Given the description of an element on the screen output the (x, y) to click on. 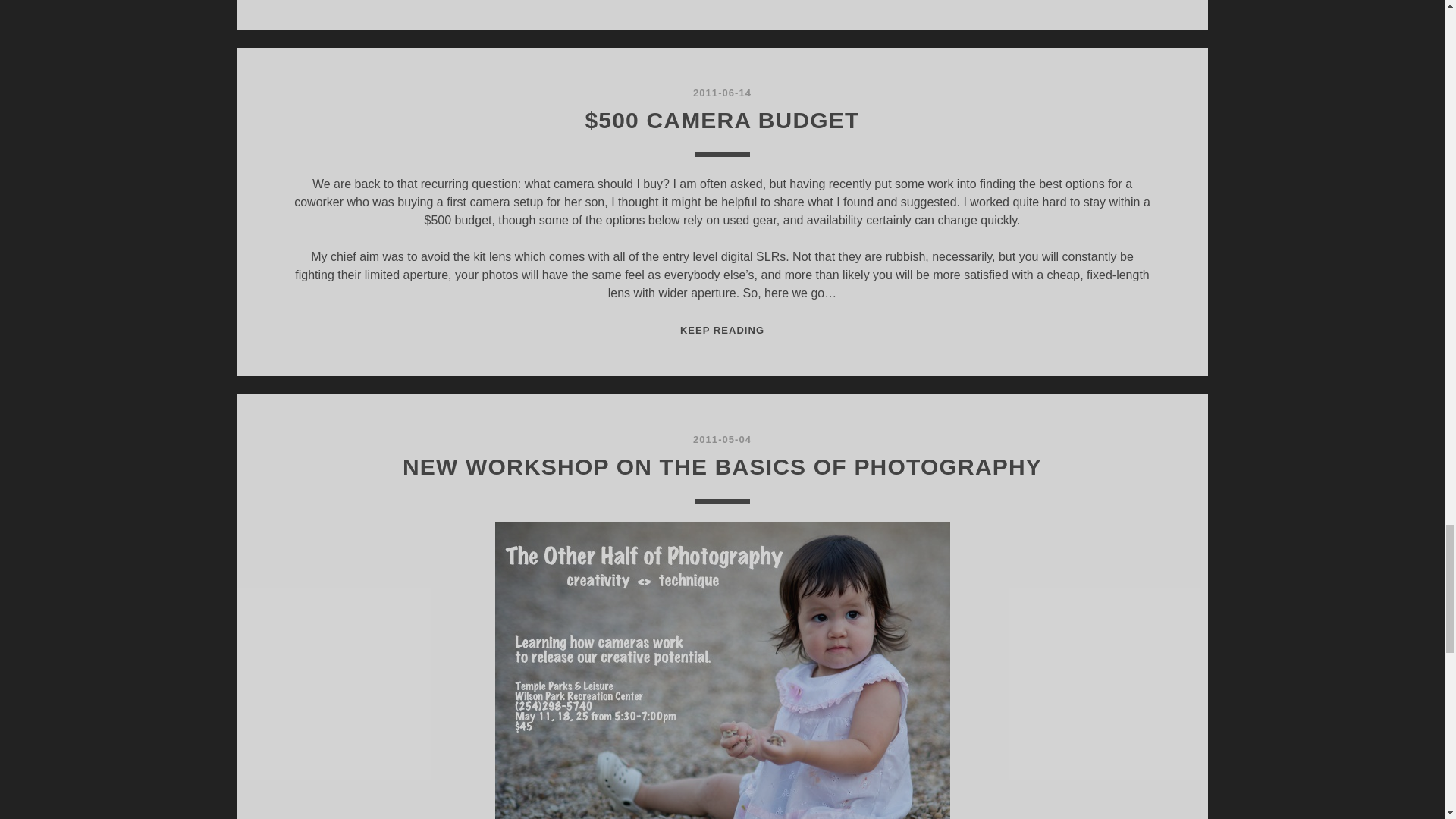
NEW WORKSHOP ON THE BASICS OF PHOTOGRAPHY (722, 466)
